Given the description of an element on the screen output the (x, y) to click on. 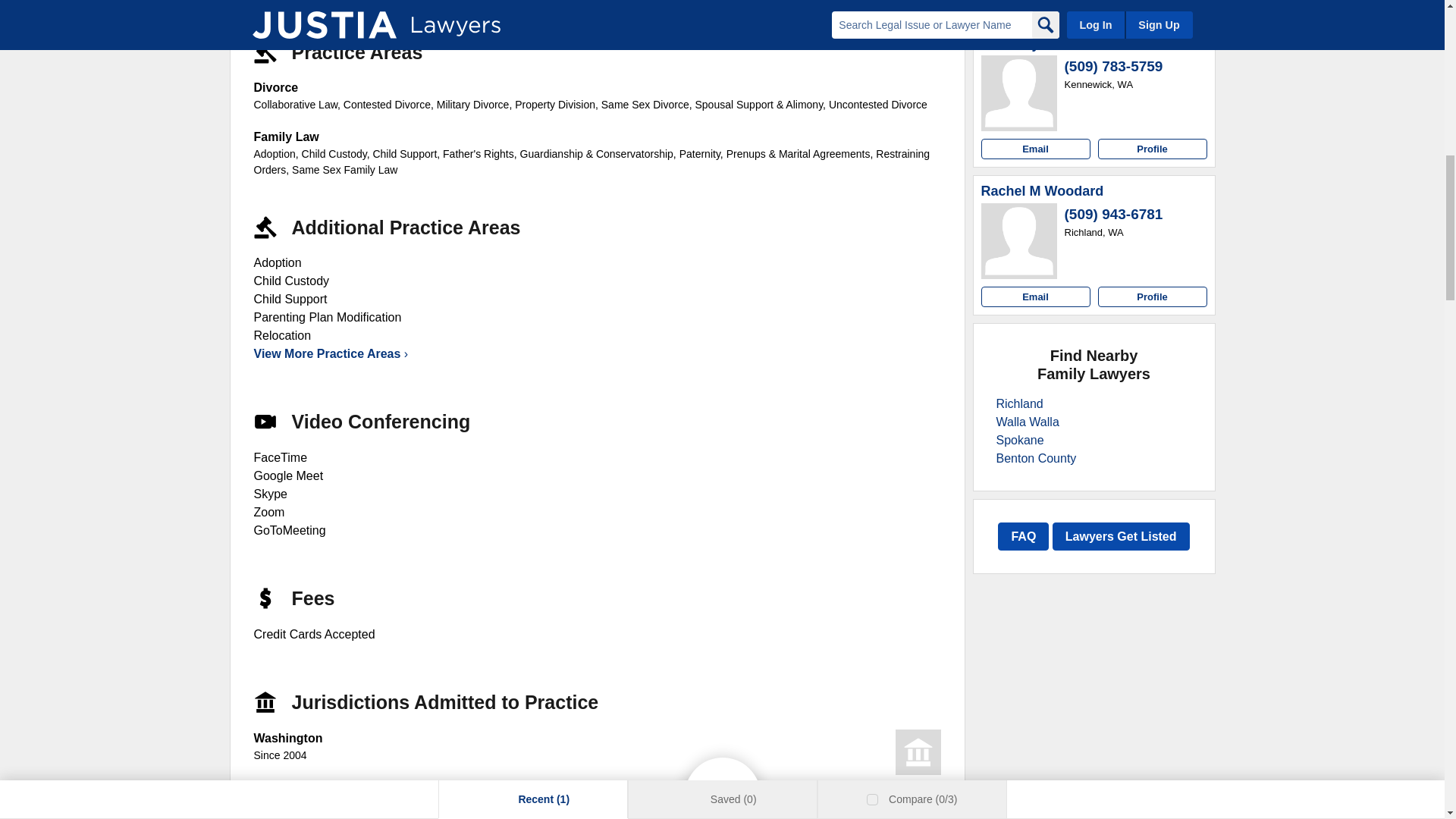
Kimberly Ann Ouren (1047, 44)
